Given the description of an element on the screen output the (x, y) to click on. 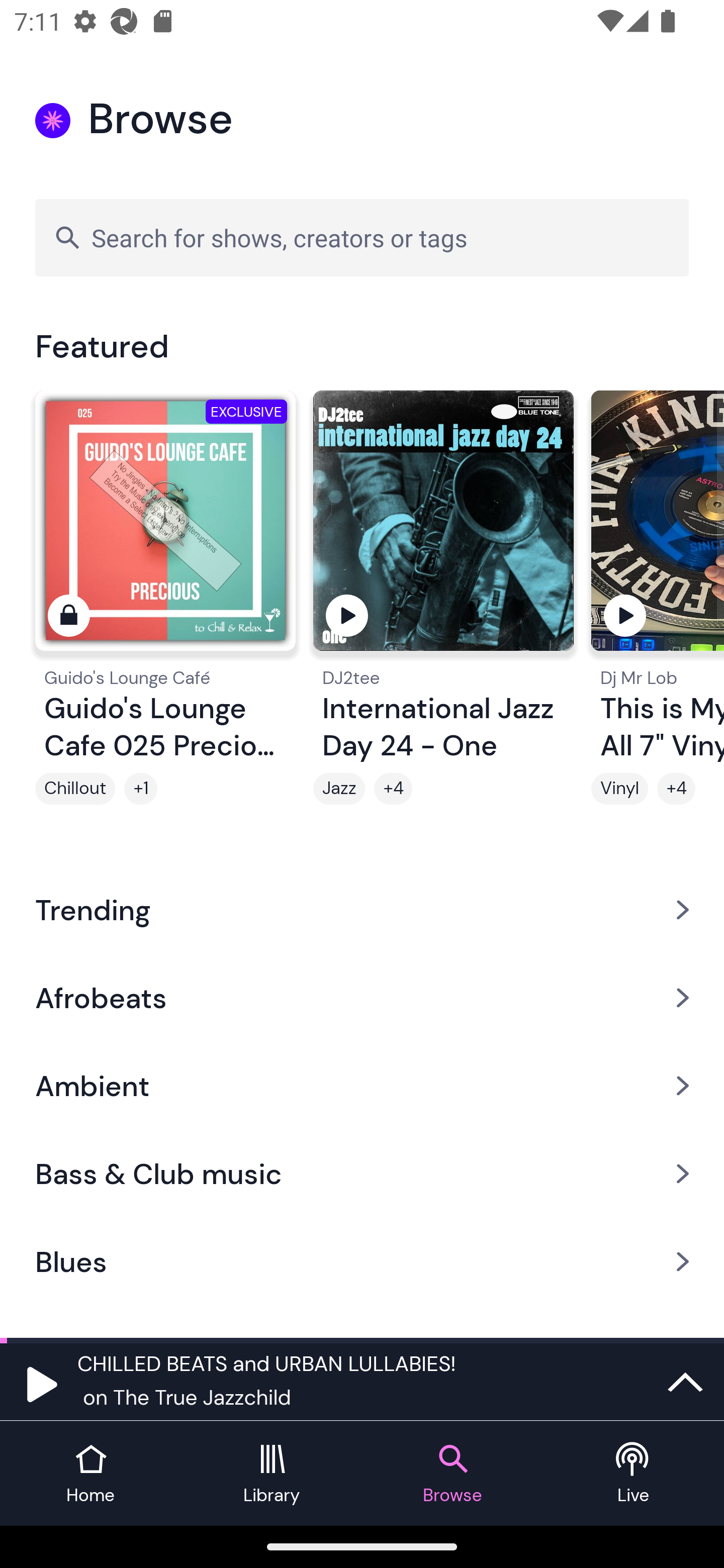
Search for shows, creators or tags (361, 237)
EXCLUSIVE (165, 528)
Chillout (75, 788)
Jazz (338, 788)
Vinyl (619, 788)
Trending (361, 909)
Afrobeats (361, 997)
Ambient (361, 1085)
Bass & Club music (361, 1174)
Blues (361, 1262)
Home tab Home (90, 1473)
Library tab Library (271, 1473)
Browse tab Browse (452, 1473)
Live tab Live (633, 1473)
